Given the description of an element on the screen output the (x, y) to click on. 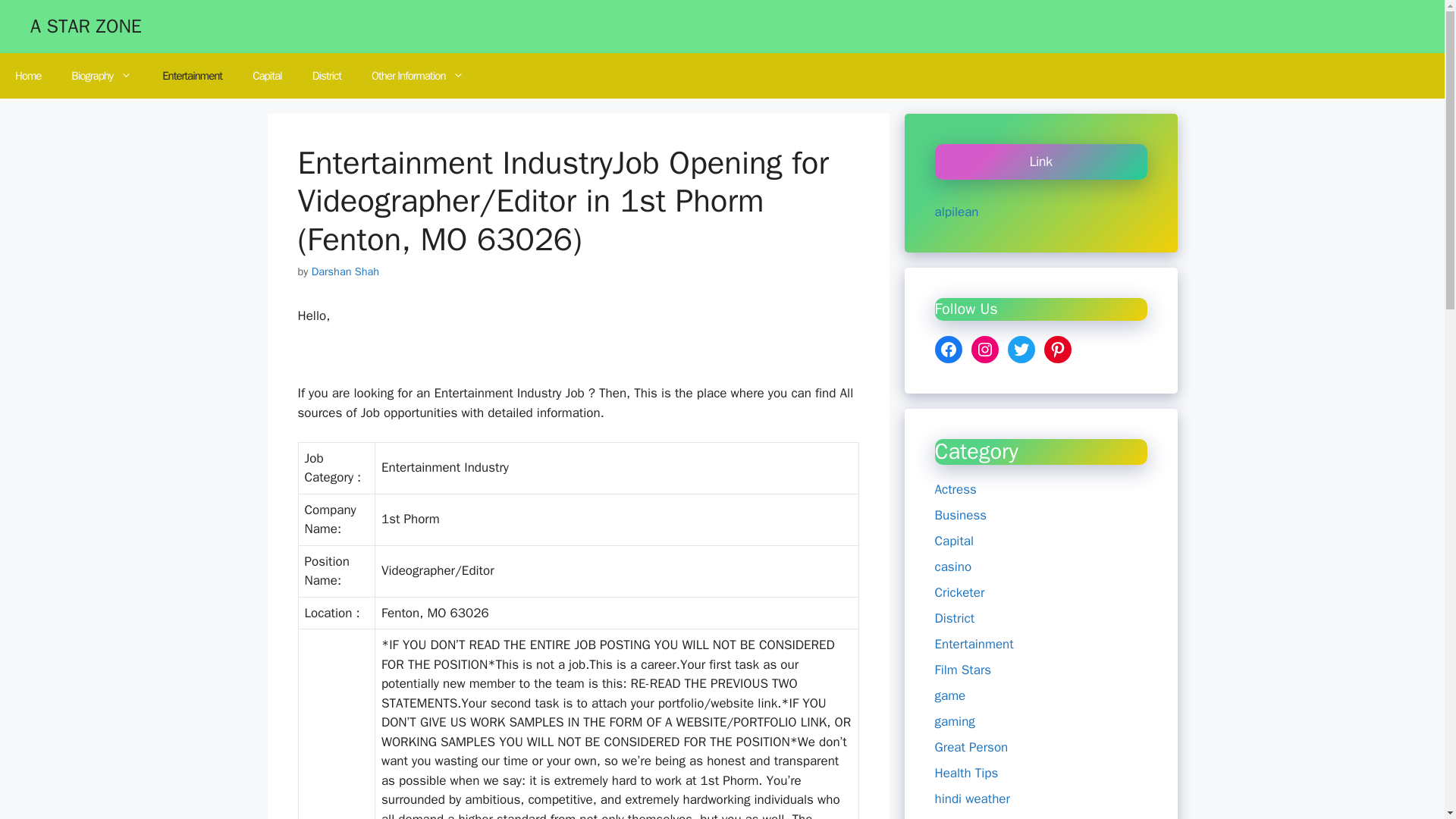
casino (952, 566)
Other Information (417, 75)
alpilean (956, 211)
District (326, 75)
Business (960, 514)
Entertainment (192, 75)
Film Stars (962, 669)
Capital (954, 540)
Actress (954, 489)
Entertainment (973, 643)
A STAR ZONE (85, 25)
Capital (267, 75)
Cricketer (959, 592)
Twitter (1020, 348)
Pinterest (1056, 348)
